Given the description of an element on the screen output the (x, y) to click on. 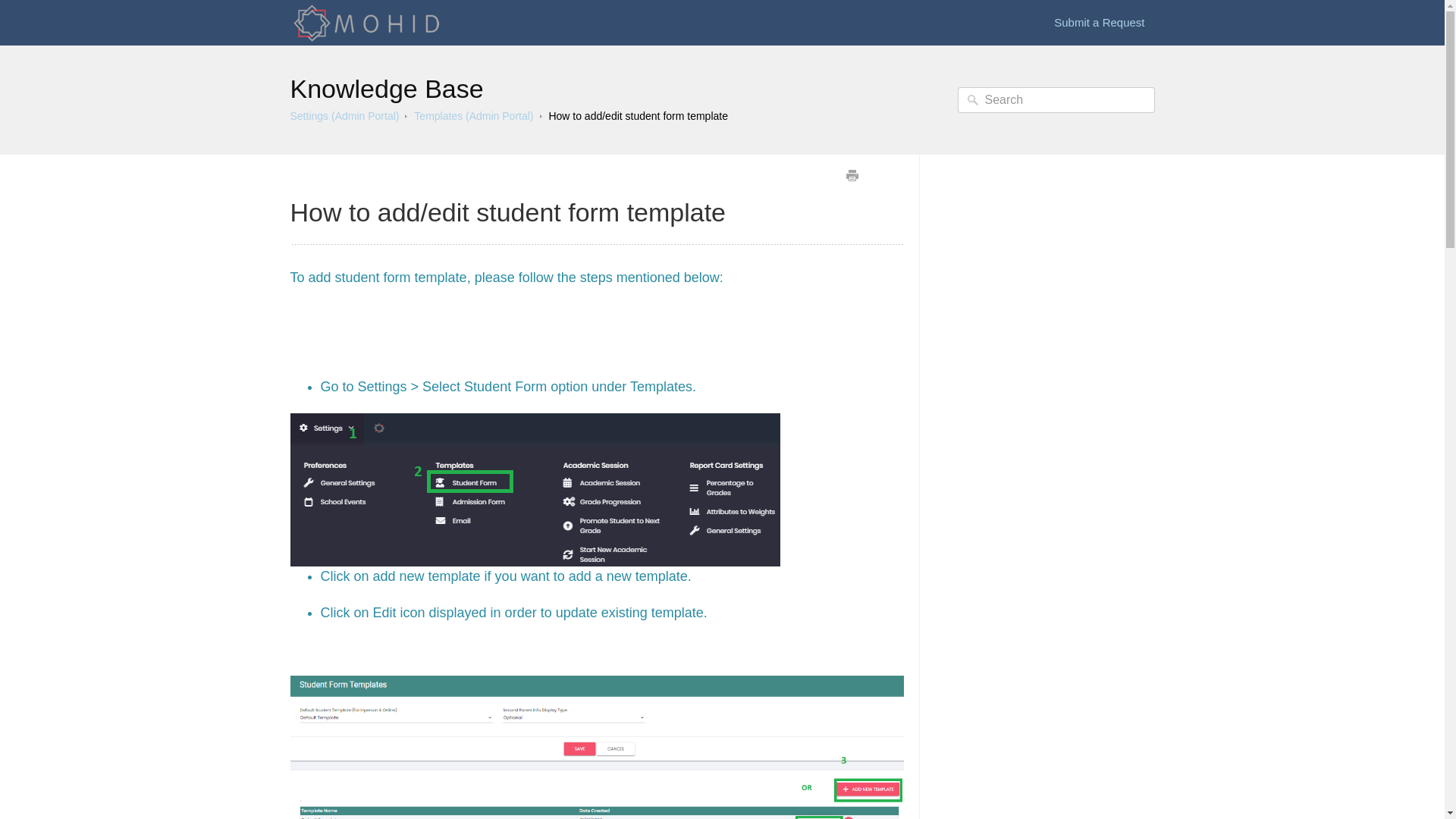
Submit a Request (1099, 22)
Print (851, 175)
Print this article (851, 175)
Knowledge Base (386, 88)
